Given the description of an element on the screen output the (x, y) to click on. 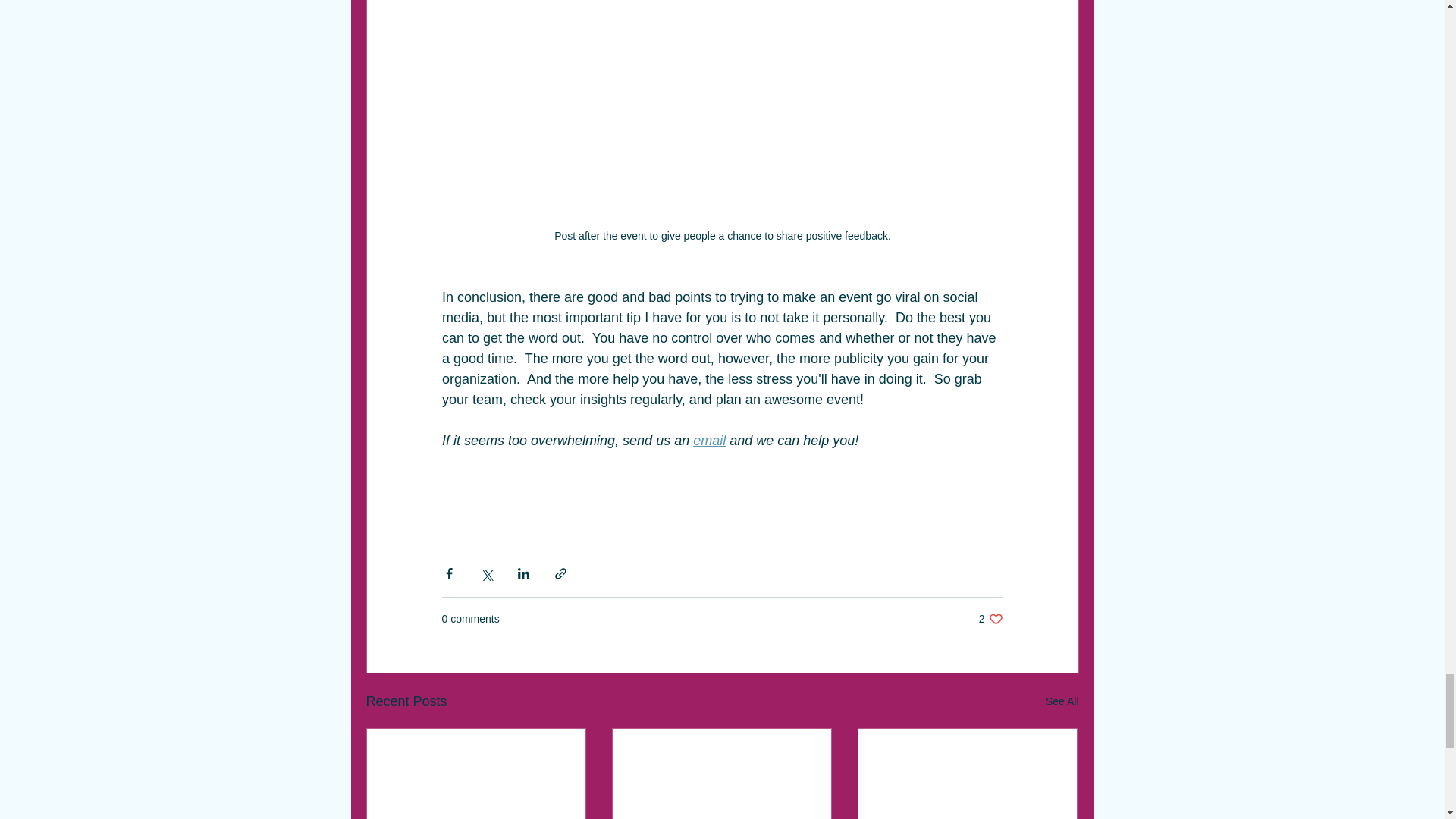
See All (1061, 701)
email (990, 618)
